Given the description of an element on the screen output the (x, y) to click on. 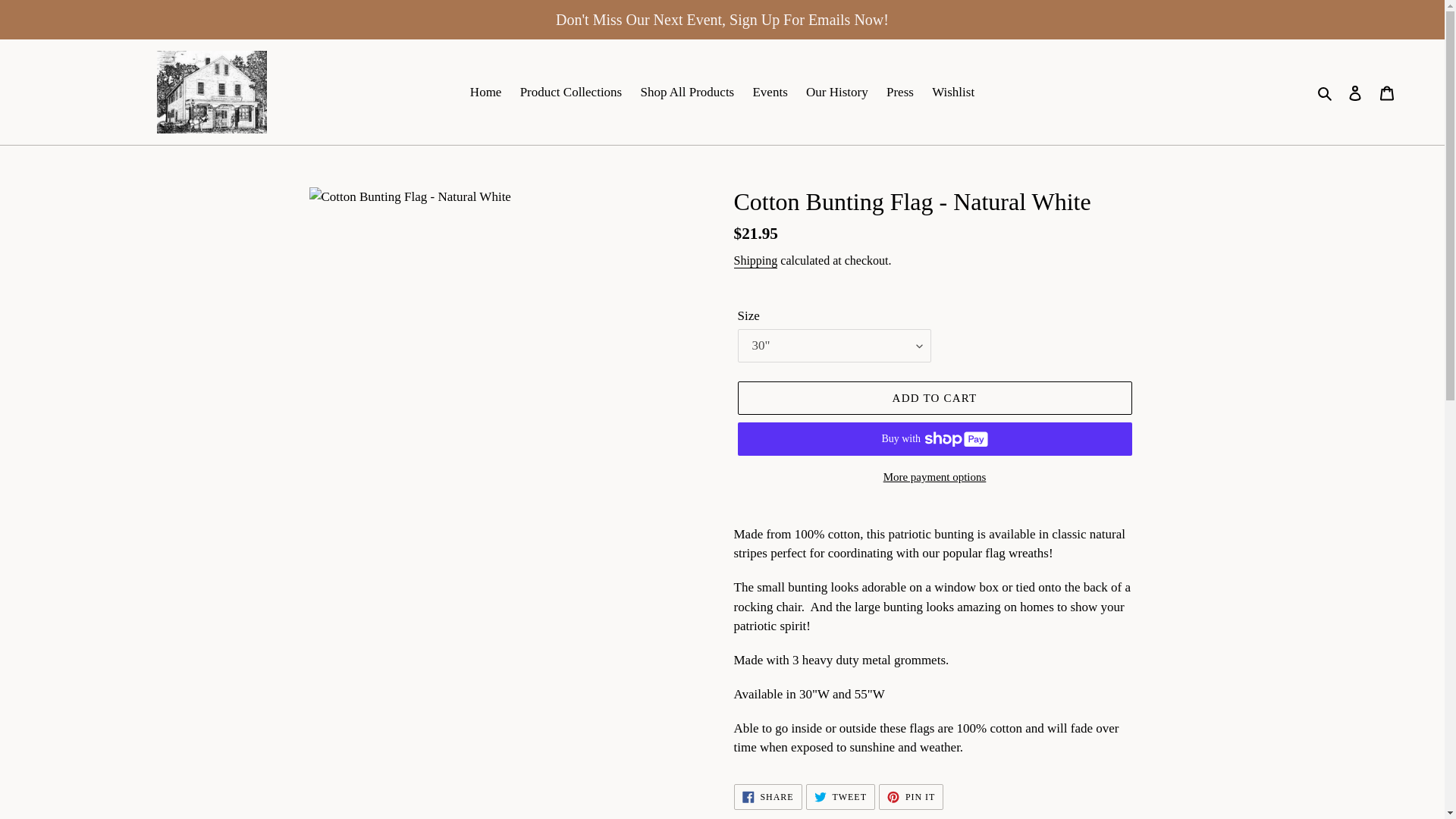
Our History (836, 92)
Home (486, 92)
Events (769, 92)
Search (1326, 92)
More payment options (933, 476)
Log in (1355, 92)
ADD TO CART (933, 397)
Product Collections (840, 796)
